Given the description of an element on the screen output the (x, y) to click on. 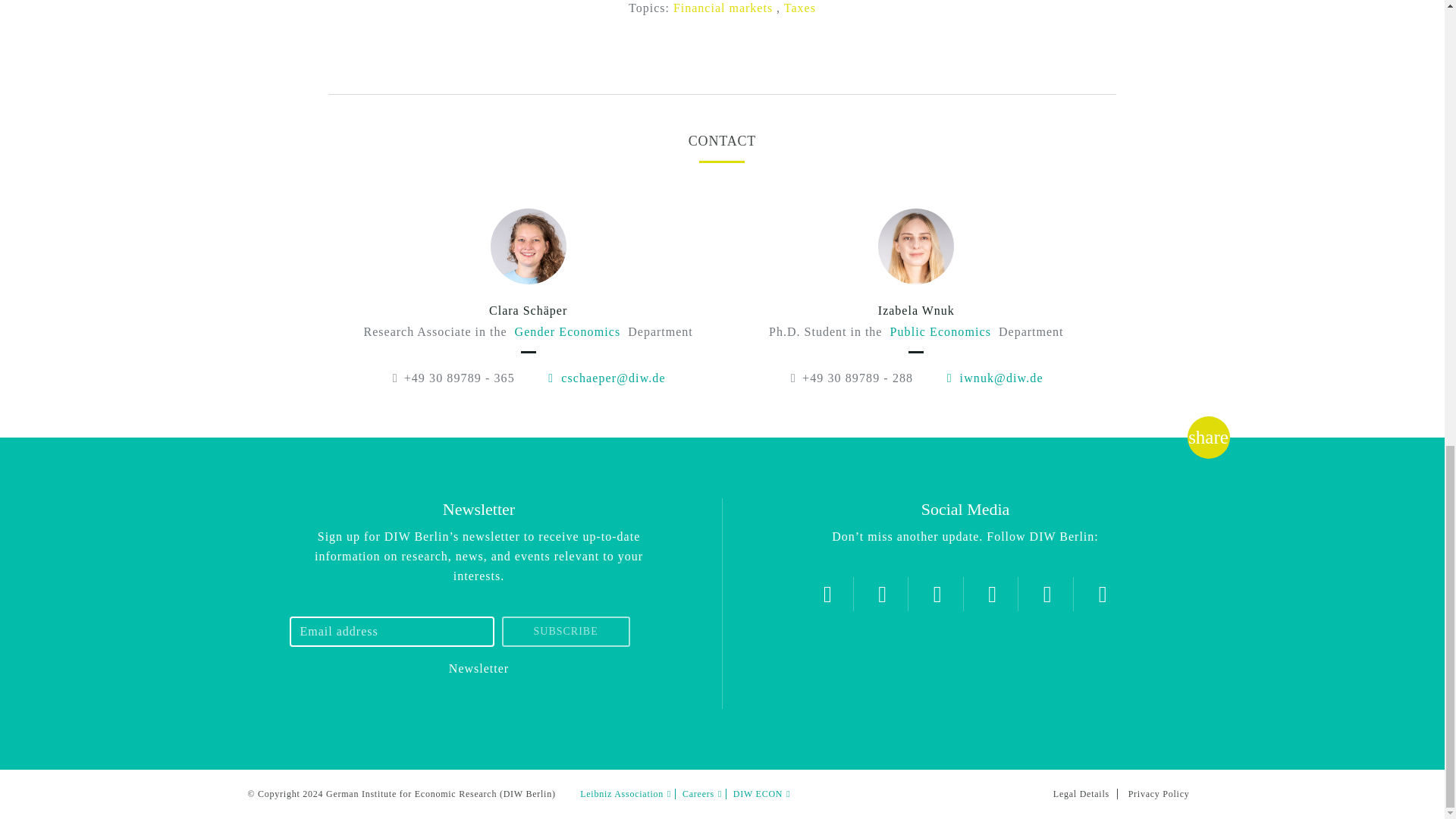
Instagram (882, 593)
LinkedIn (1047, 593)
Facebook (937, 593)
Share (1208, 437)
Twitter (827, 593)
RSS feeds (1102, 593)
Youtube (991, 593)
